Given the description of an element on the screen output the (x, y) to click on. 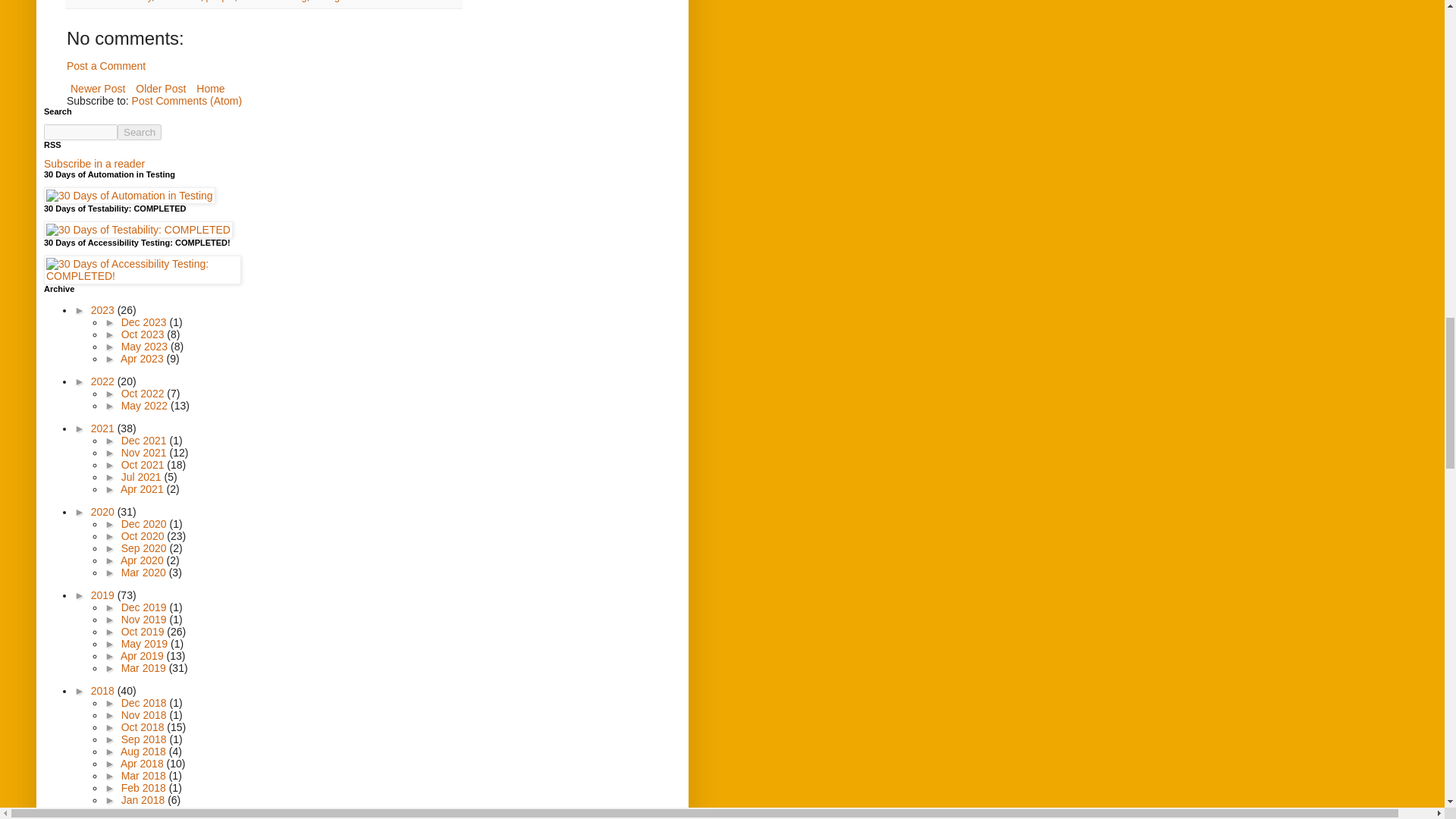
search (80, 132)
software testing (272, 1)
search (139, 132)
Newer Post (97, 88)
Older Post (160, 88)
Older Post (160, 88)
Home (210, 88)
community (128, 1)
people (219, 1)
2023 (103, 309)
writing (326, 1)
Search (139, 132)
Search (139, 132)
Subscribe in a reader (93, 163)
motivation (178, 1)
